Given the description of an element on the screen output the (x, y) to click on. 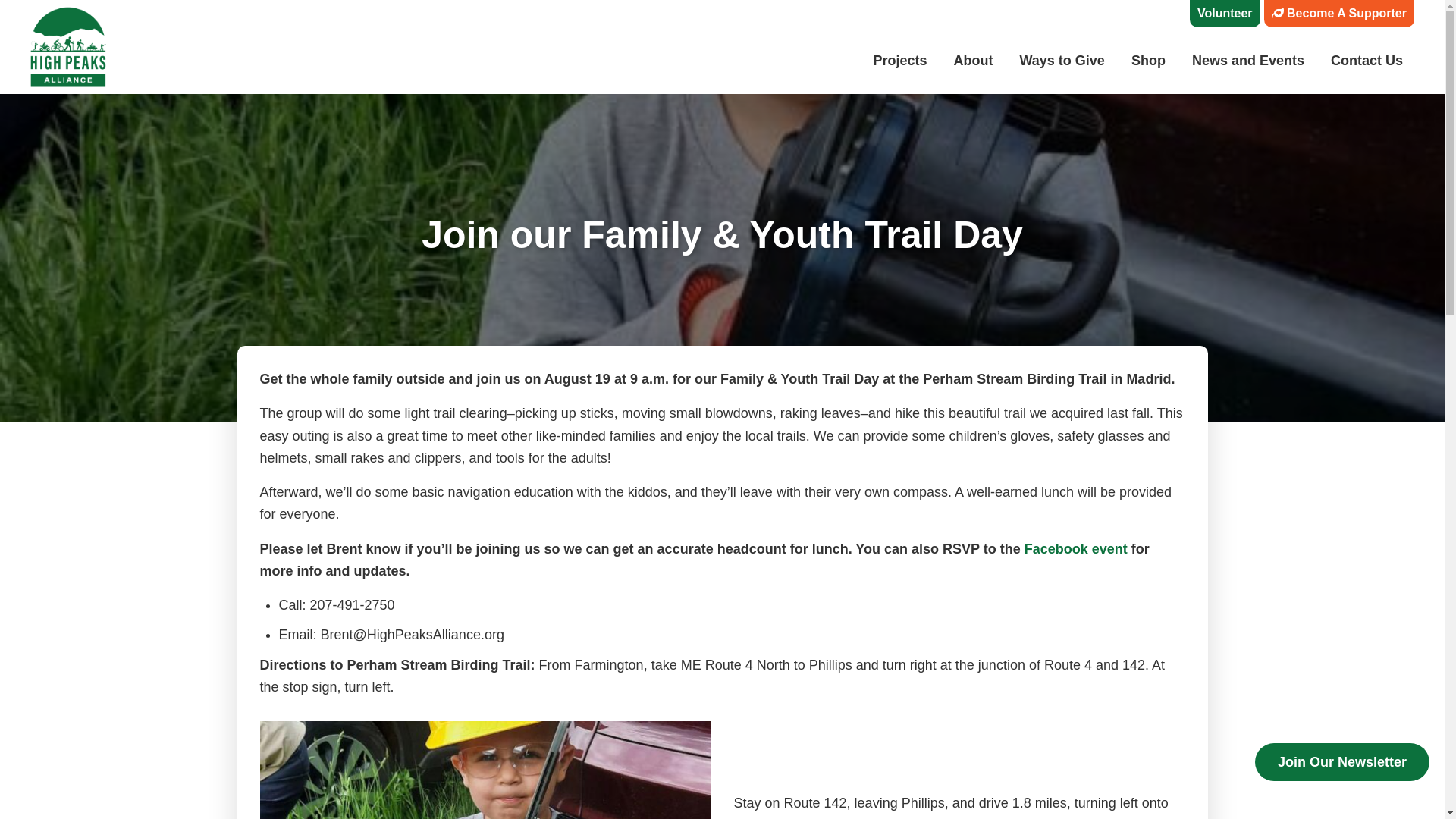
News and Events (1248, 60)
Become A Supporter (1338, 13)
Volunteer (1224, 13)
About (973, 60)
Contact Us (1366, 60)
Facebook event (1075, 548)
Ways to Give (1062, 60)
Shop (1147, 60)
Projects (899, 60)
